Given the description of an element on the screen output the (x, y) to click on. 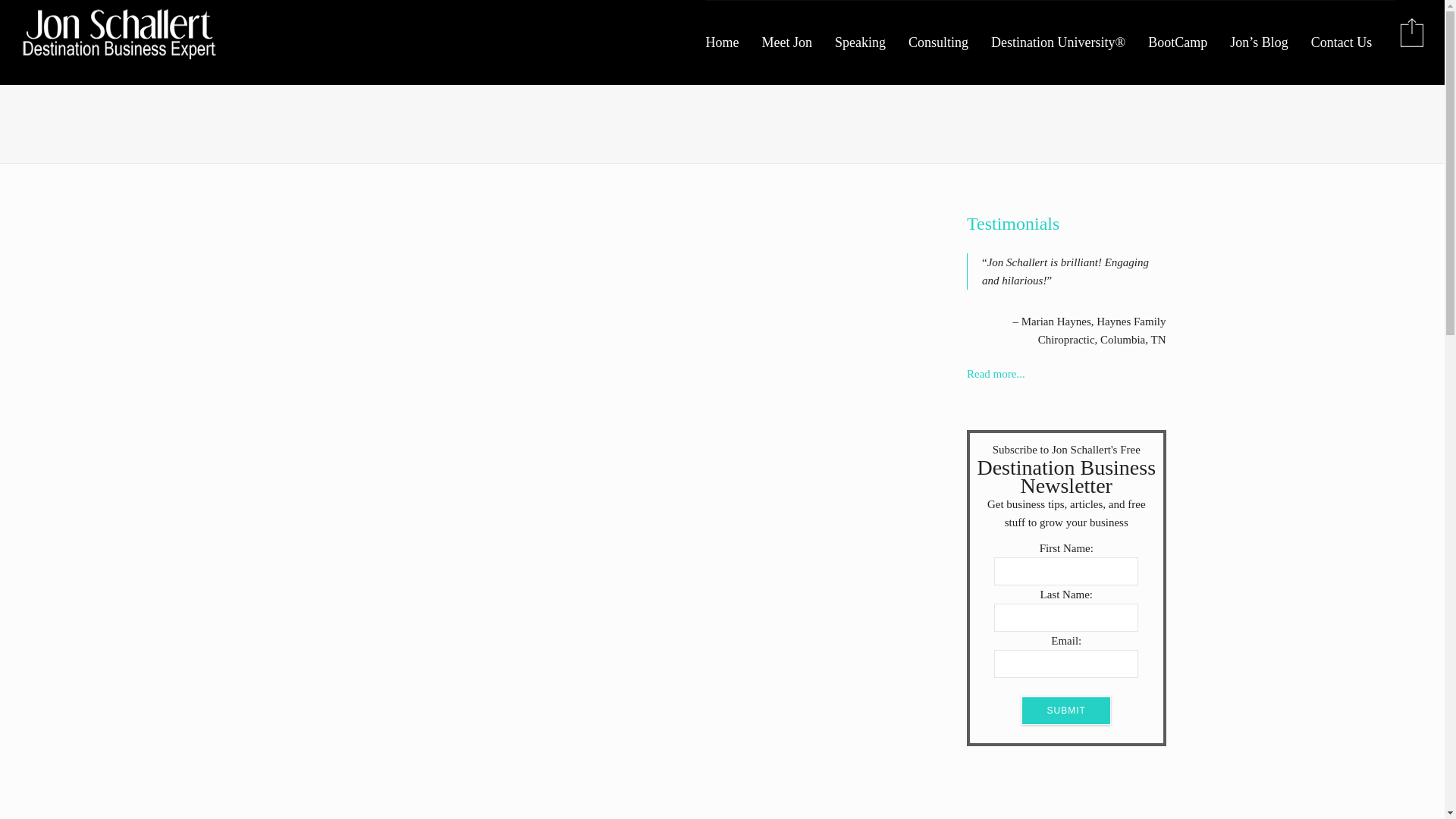
Meet Jon (798, 42)
Contact Us (1352, 42)
BootCamp (1189, 42)
Speaking (871, 42)
Submit (1066, 710)
Jon Schallert (119, 33)
Consulting (949, 42)
Home (733, 42)
